Given the description of an element on the screen output the (x, y) to click on. 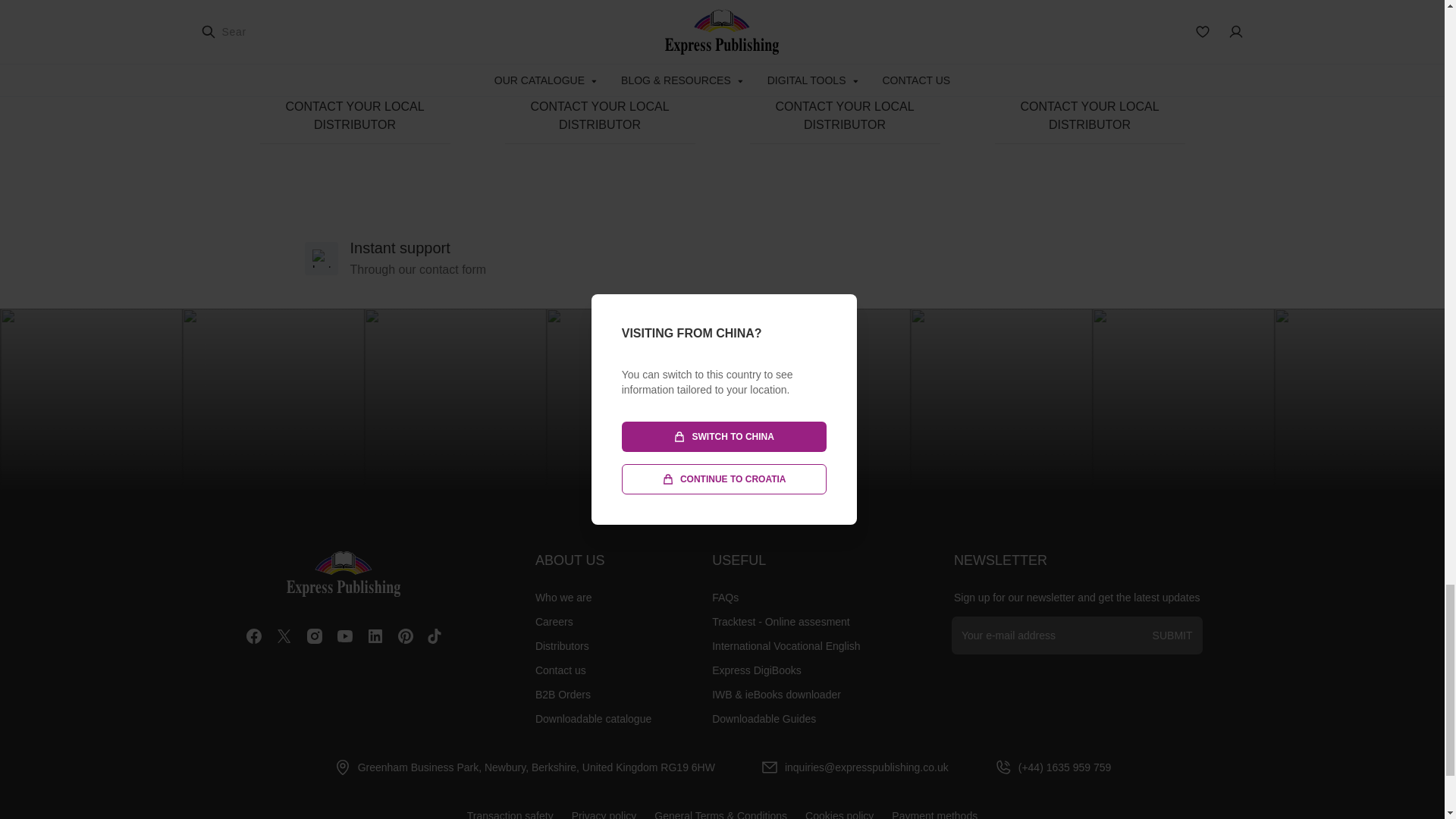
Add to favourites (676, 57)
Add to favourites (430, 37)
CONTACT YOUR LOCAL DISTRIBUTOR (354, 115)
CONTACT YOUR LOCAL DISTRIBUTOR (844, 115)
CONTACT YOUR LOCAL DISTRIBUTOR (600, 115)
Add to favourites (920, 57)
